Given the description of an element on the screen output the (x, y) to click on. 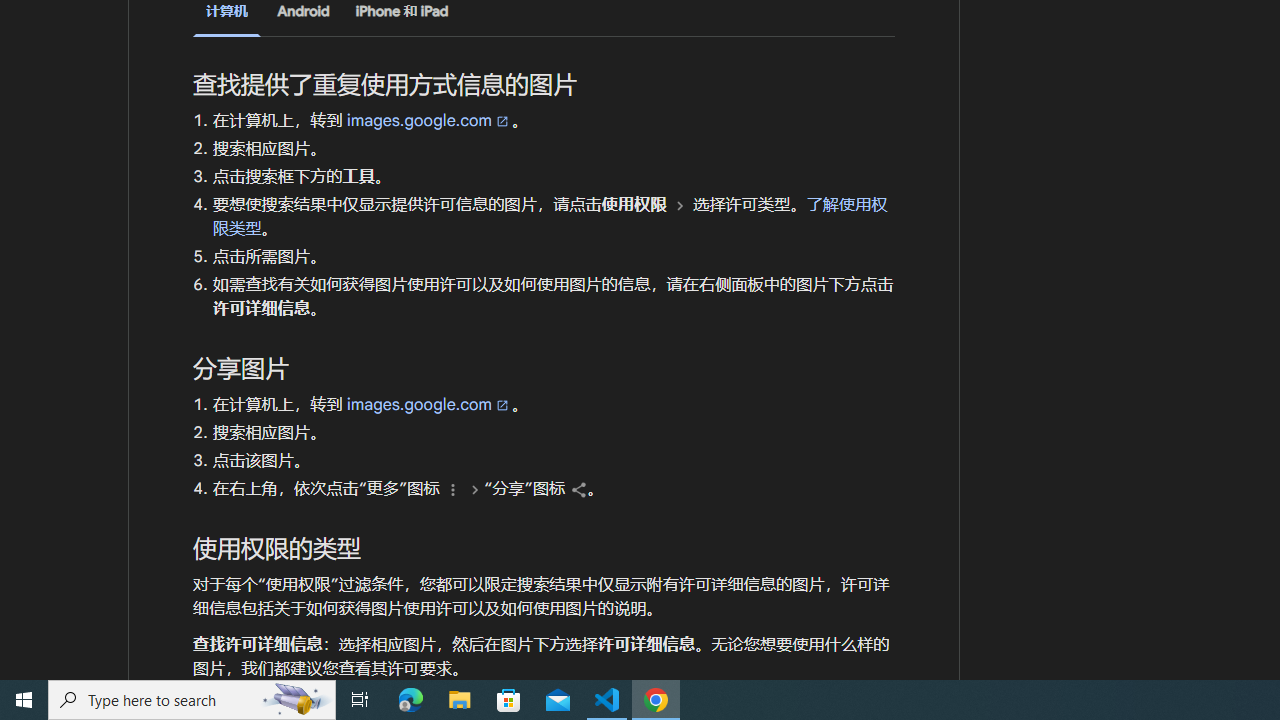
images.google.com (429, 404)
